Given the description of an element on the screen output the (x, y) to click on. 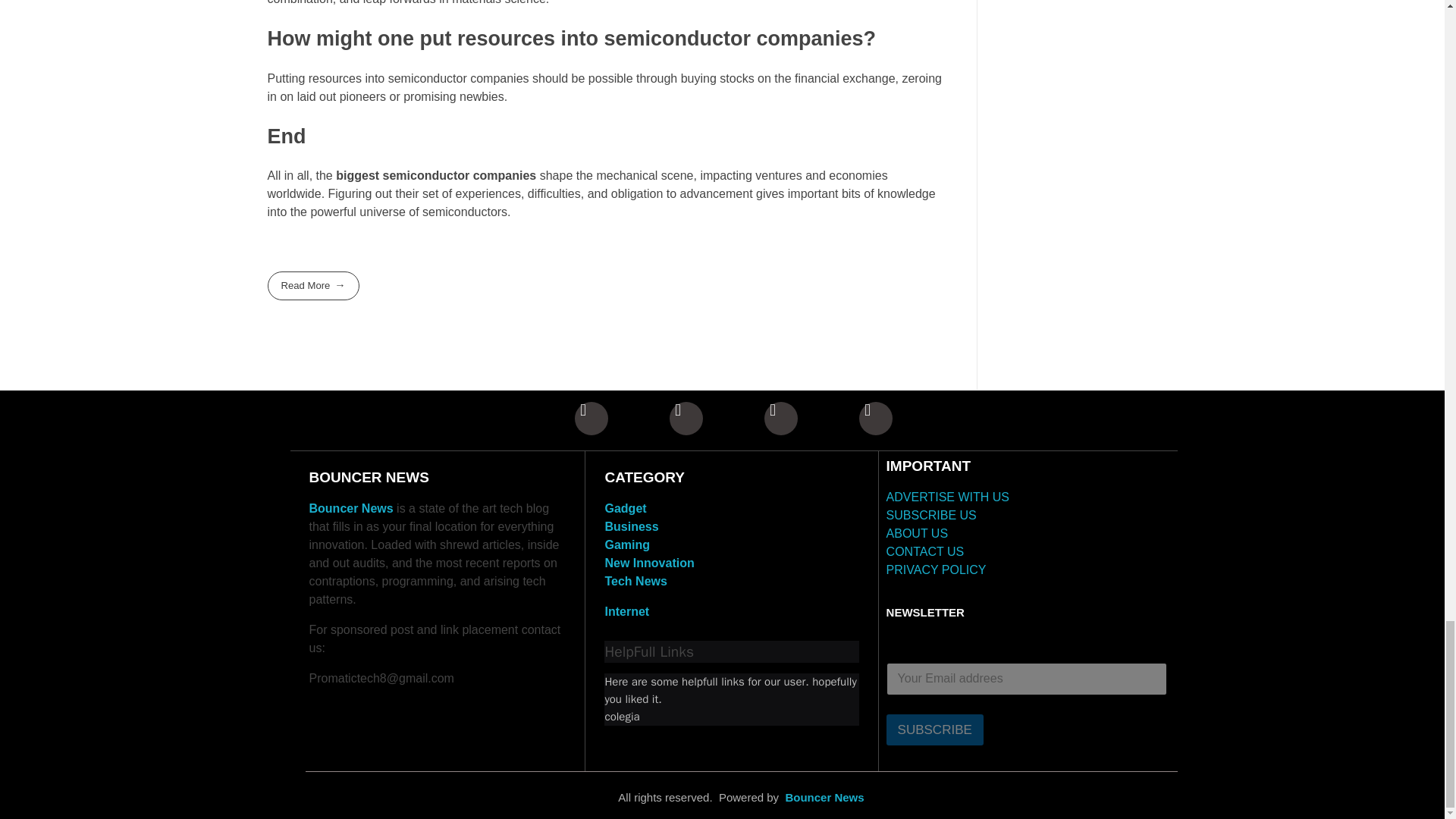
Read More (312, 285)
